Given the description of an element on the screen output the (x, y) to click on. 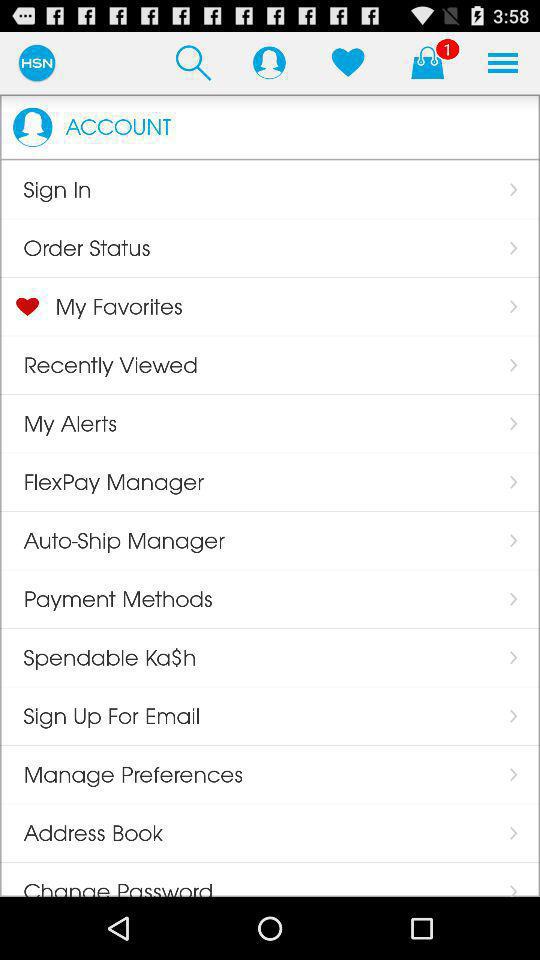
turn on app above the manage preferences app (269, 62)
